Given the description of an element on the screen output the (x, y) to click on. 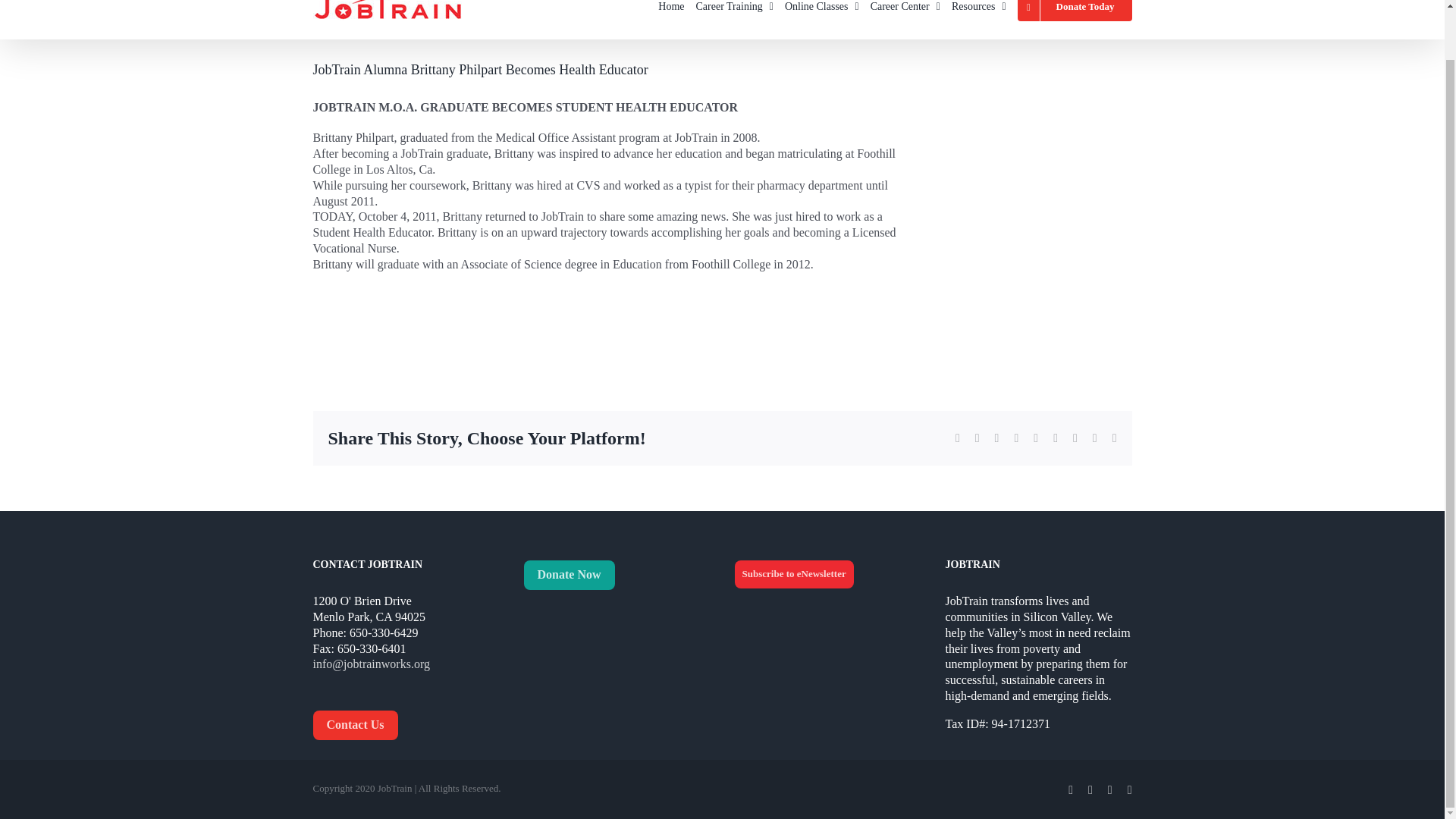
Online Classes (821, 19)
Career Training (734, 19)
Career Center (905, 19)
